Given the description of an element on the screen output the (x, y) to click on. 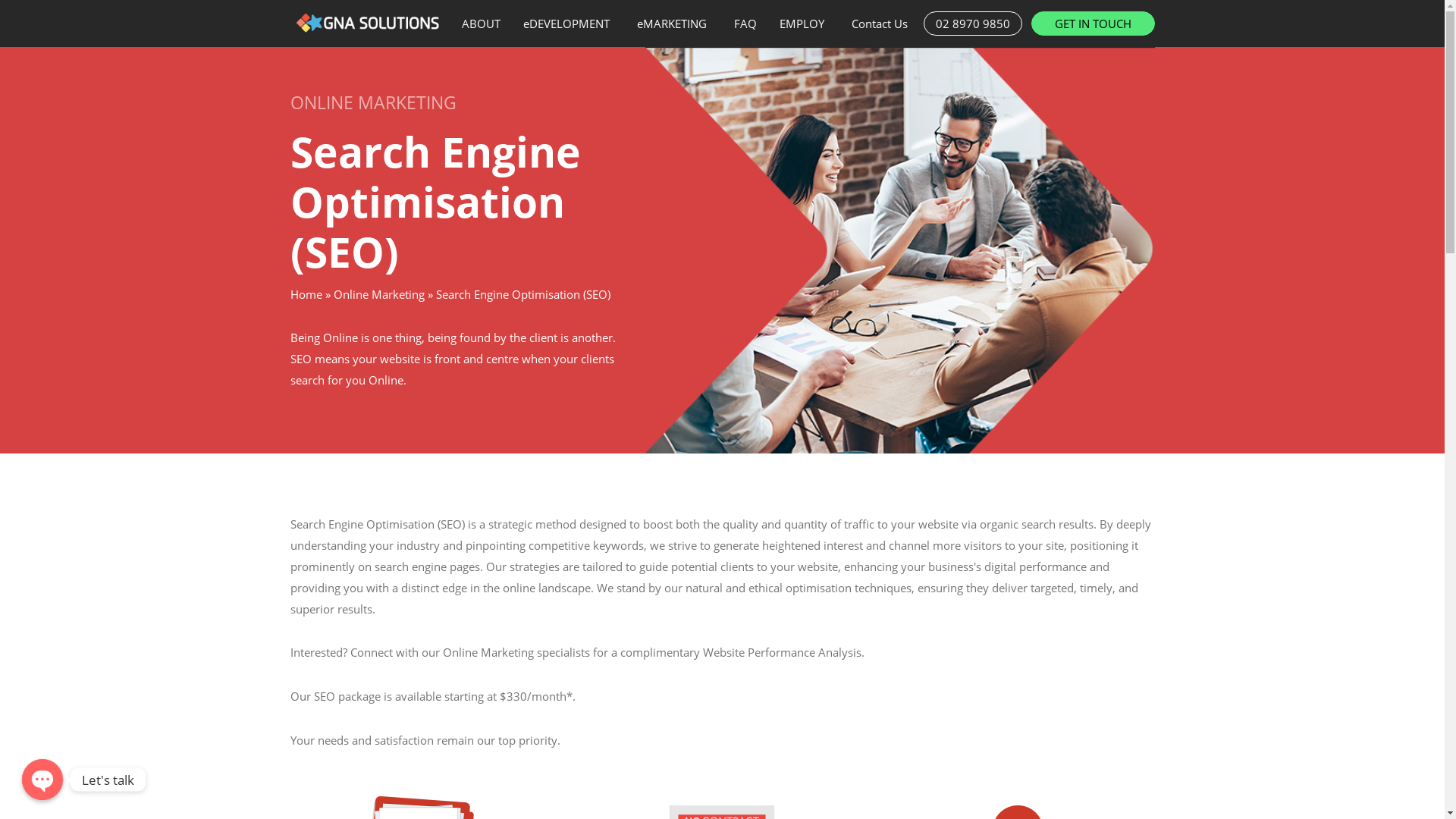
Contact Us Element type: text (881, 23)
Home Element type: text (365, 22)
Home Element type: text (305, 293)
ABOUT Element type: text (480, 23)
02 8970 9850 Element type: text (972, 23)
eMARKETING Element type: text (672, 23)
Online Marketing Element type: text (378, 293)
eDEVELOPMENT Element type: text (567, 23)
GET IN TOUCH Element type: text (1092, 23)
EMPLOY Element type: text (803, 23)
FAQ Element type: text (744, 23)
